Given the description of an element on the screen output the (x, y) to click on. 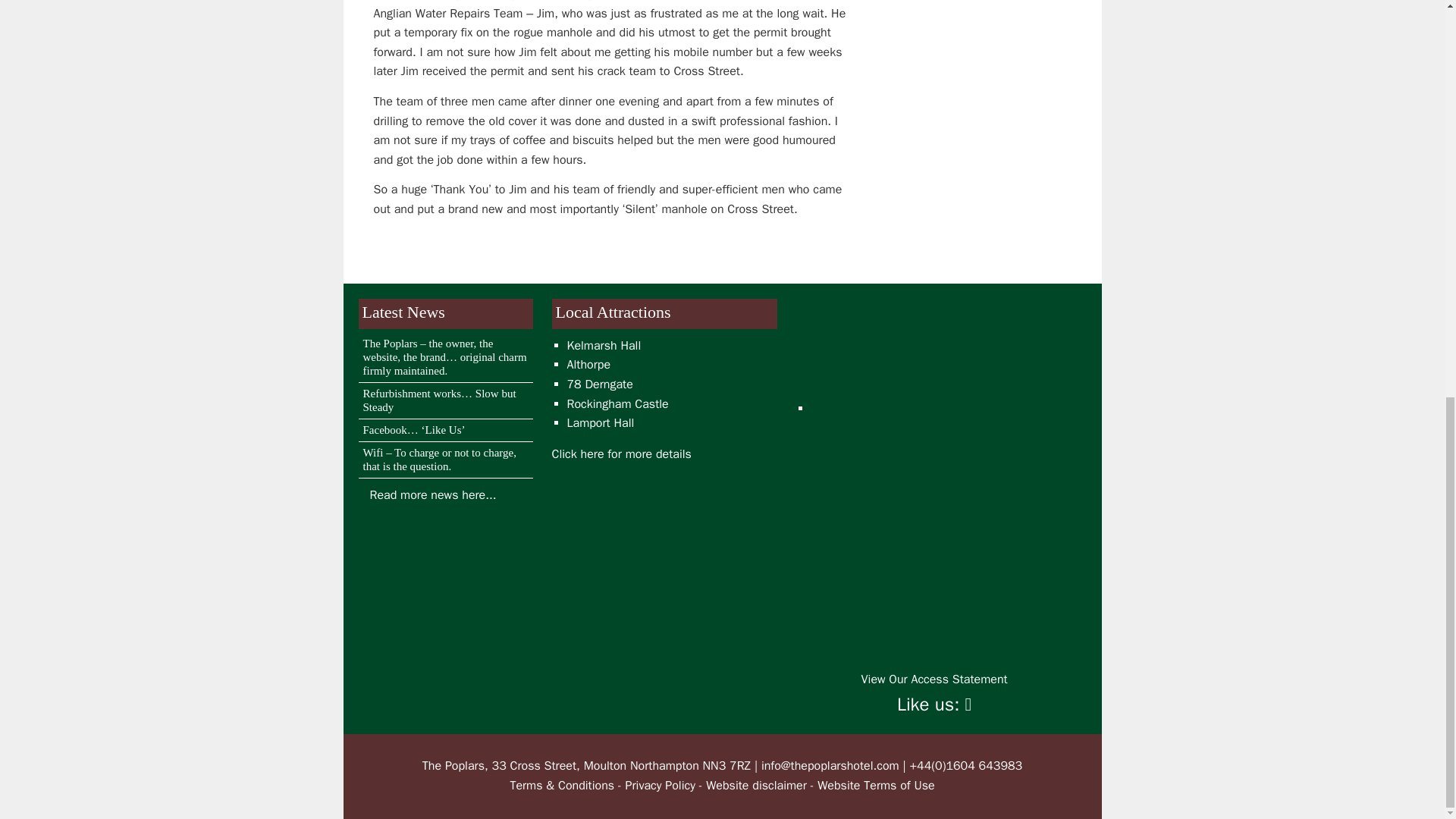
Privacy Policy (659, 785)
Like us: (933, 703)
Website disclaimer (756, 785)
Read more news here... (432, 494)
Click here for more details (621, 453)
View Our Access Statement (934, 679)
Latest News (432, 494)
Website Terms of Use (875, 785)
